Given the description of an element on the screen output the (x, y) to click on. 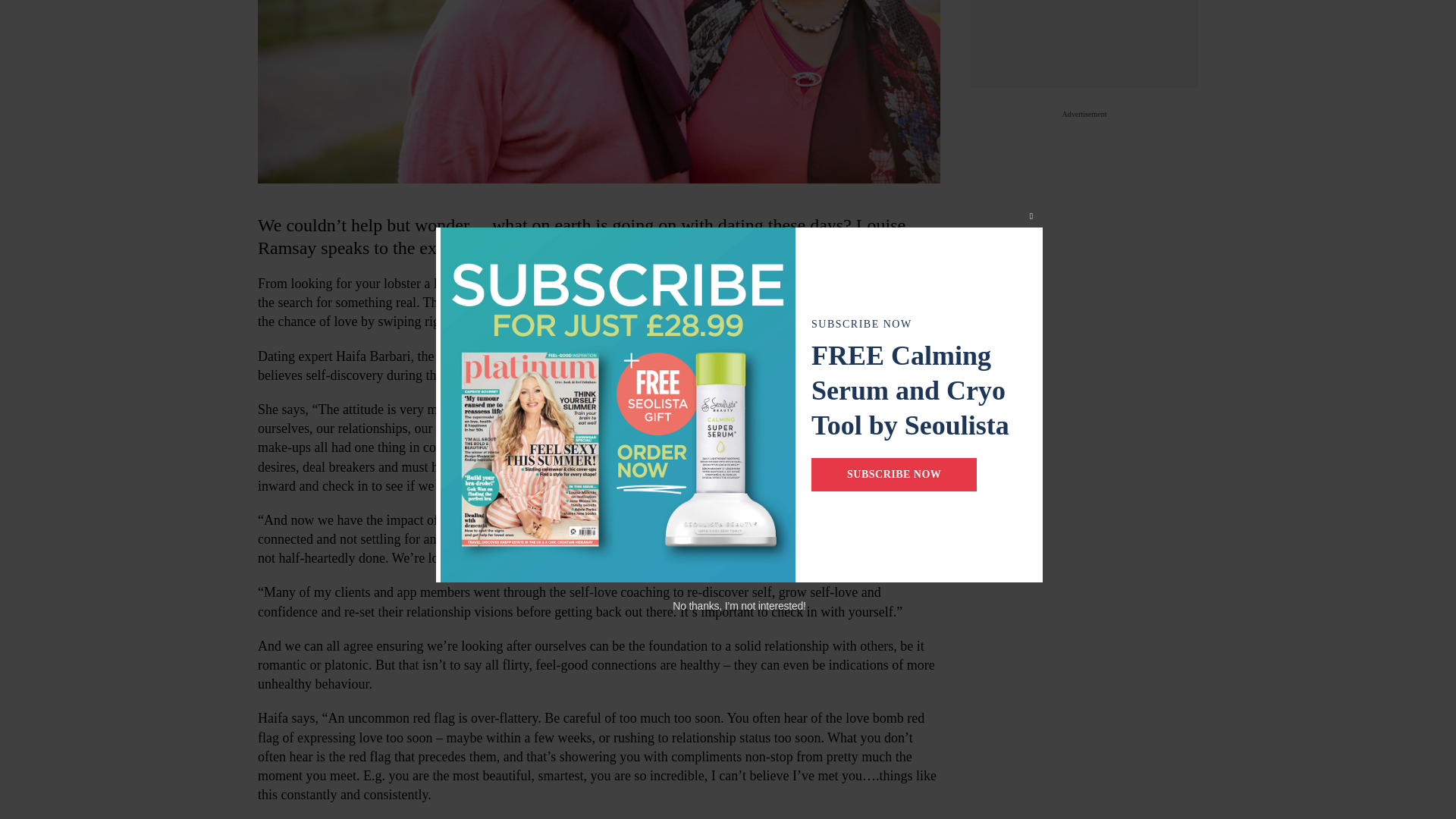
advertisement (1084, 43)
